Given the description of an element on the screen output the (x, y) to click on. 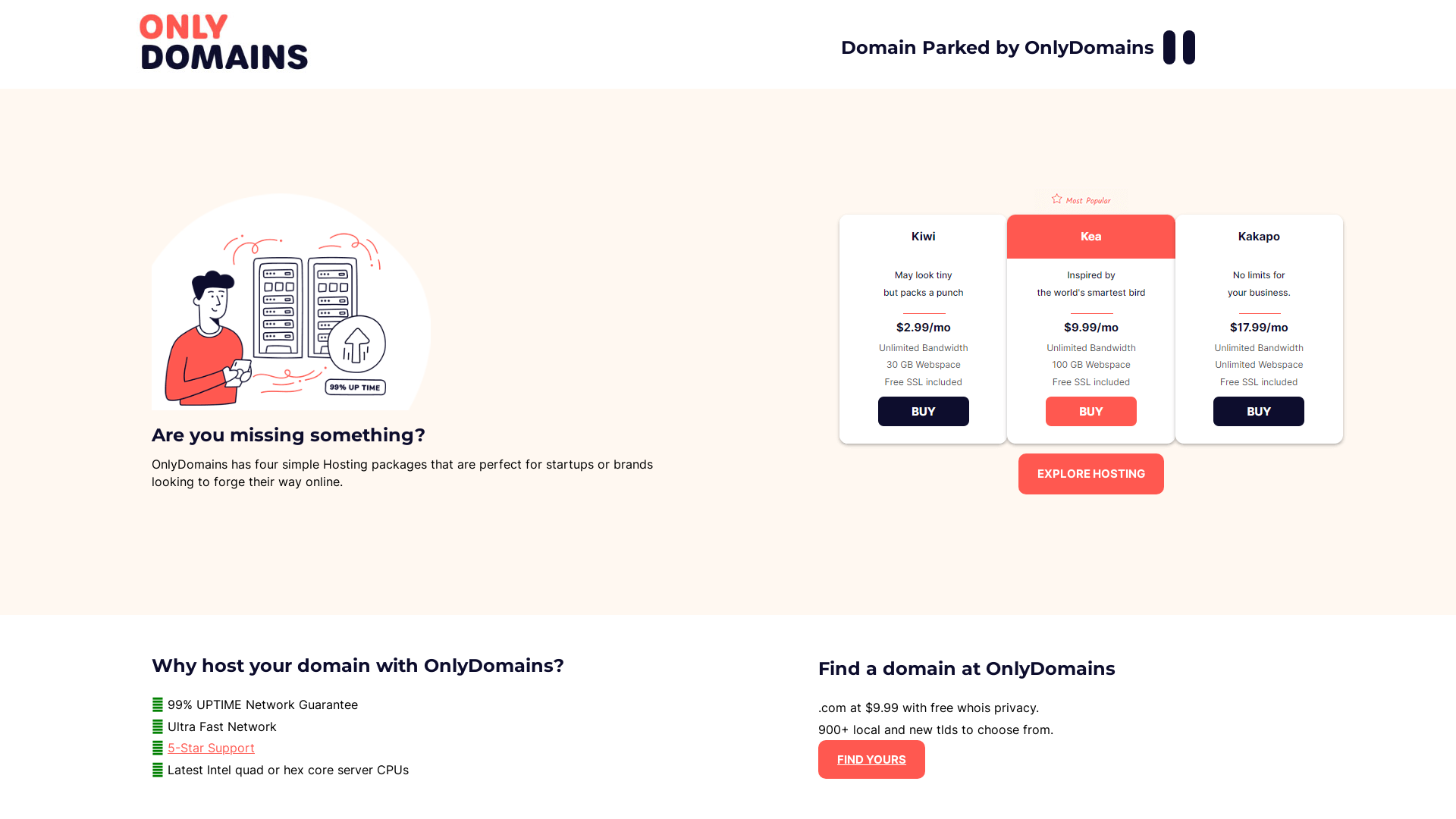
OnlyDomains Twitter Element type: hover (1188, 47)
OnlyDomains Facebook Element type: hover (1169, 47)
FIND YOURS Element type: text (871, 759)
5-Star Support Element type: text (210, 747)
EXPLORE HOSTING Element type: text (1091, 473)
